Given the description of an element on the screen output the (x, y) to click on. 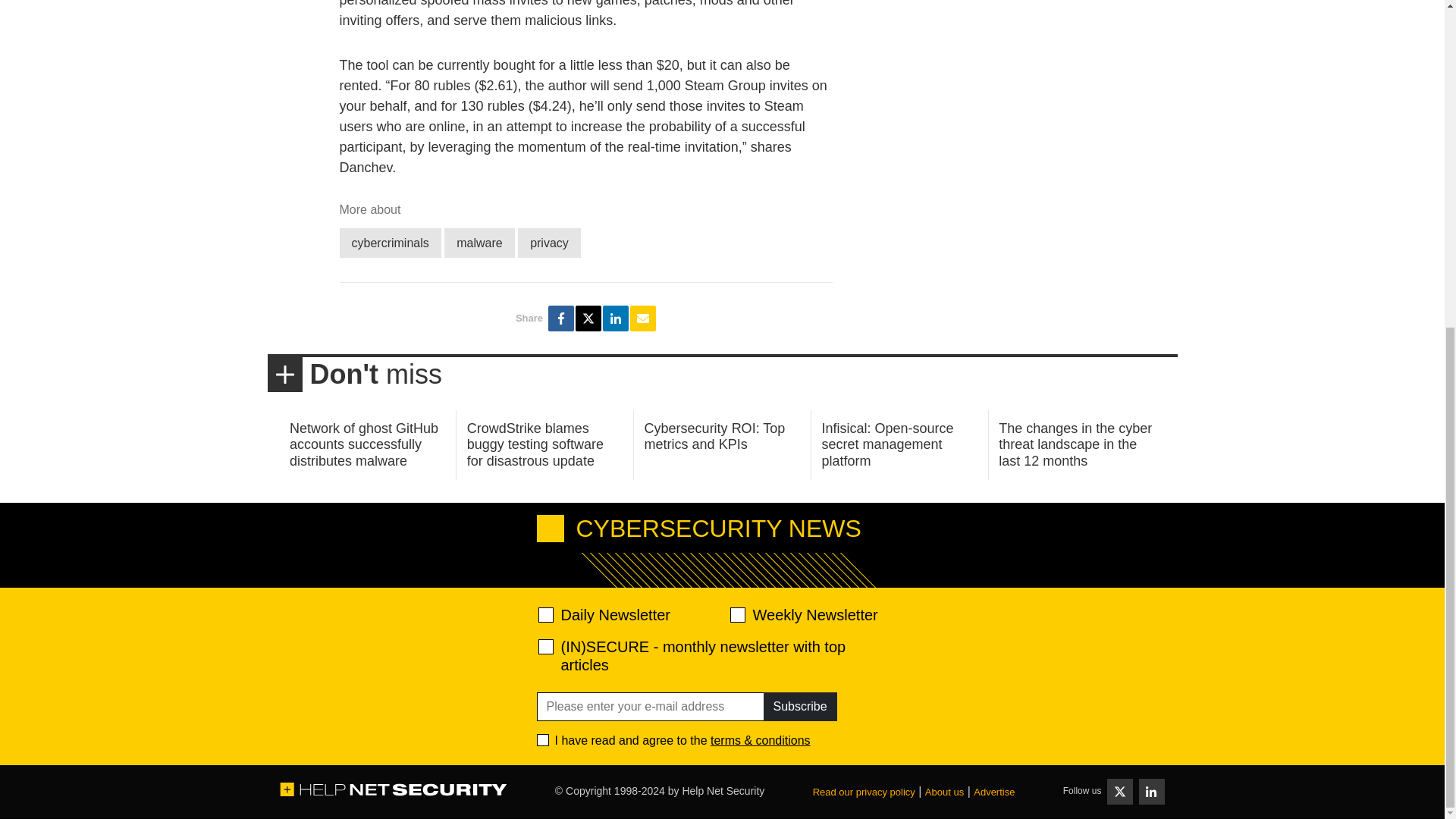
malware (478, 242)
520ac2f639 (545, 614)
privacy (549, 242)
privacy (549, 242)
28abe5d9ef (545, 646)
1 (542, 739)
cybercriminals (390, 242)
Cybersecurity ROI: Top metrics and KPIs (715, 436)
cybercriminals (390, 242)
d2d471aafa (736, 614)
malware (478, 242)
